Given the description of an element on the screen output the (x, y) to click on. 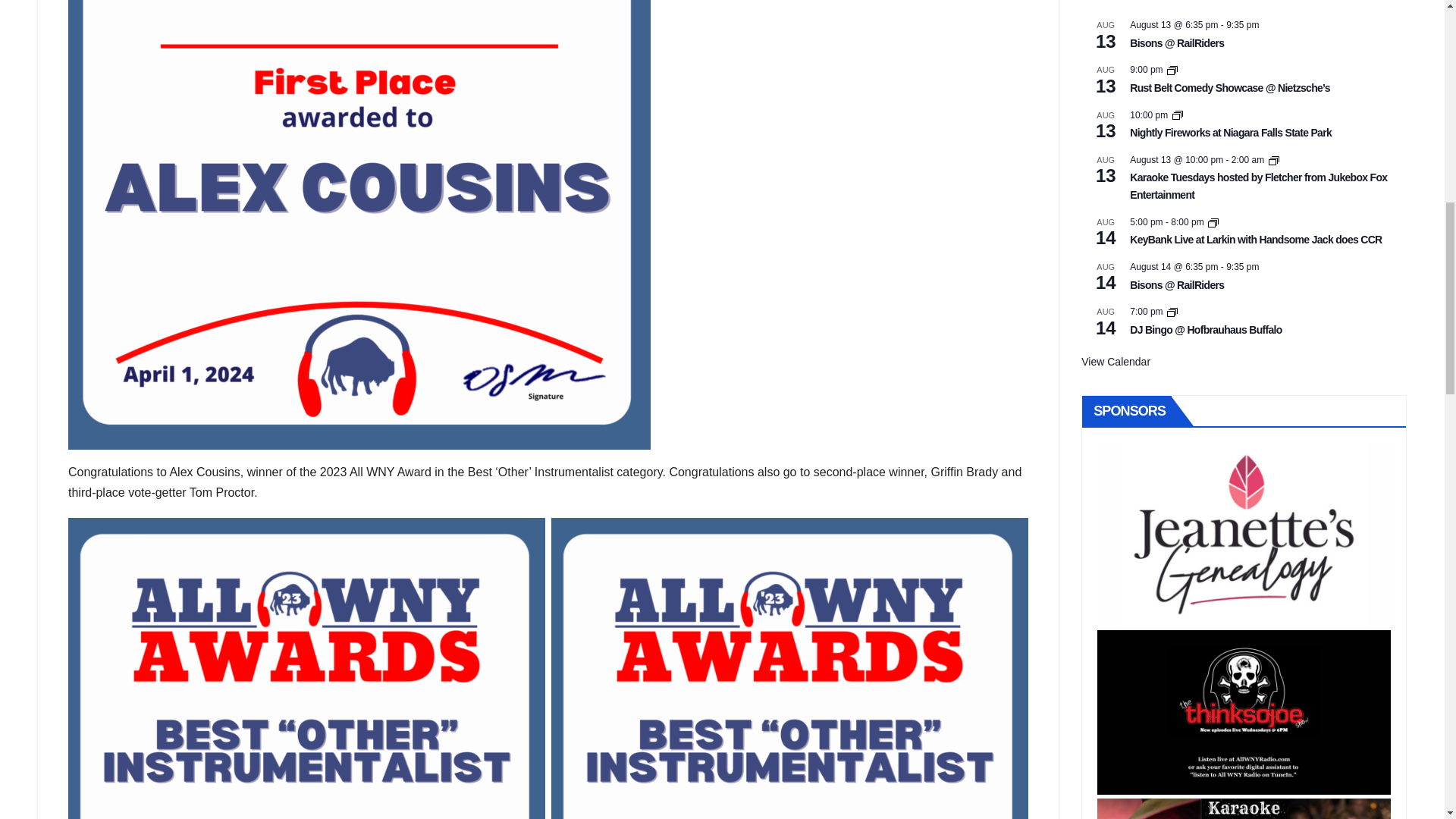
Event Series (1177, 114)
Event Series (1273, 160)
Event Series (1172, 70)
Event Series (1172, 311)
Event Series (1213, 222)
